Given the description of an element on the screen output the (x, y) to click on. 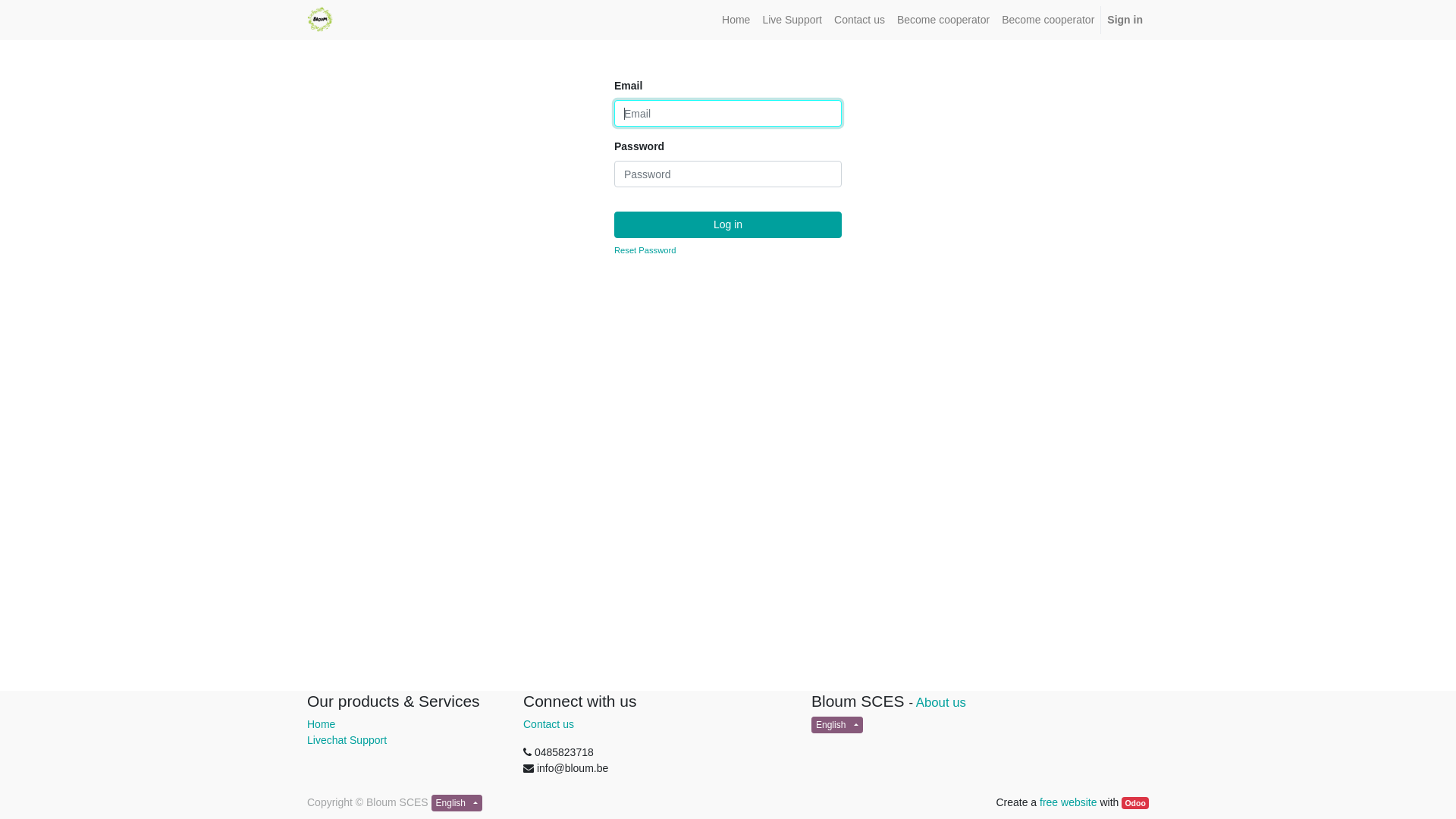
Home Element type: text (735, 20)
Live Support Element type: text (792, 20)
Become cooperator Element type: text (943, 20)
Log in Element type: text (727, 224)
free website Element type: text (1067, 802)
Home Element type: text (321, 724)
English Element type: text (457, 802)
English Element type: text (836, 724)
Livechat Support Element type: text (346, 740)
Contact us Element type: text (859, 20)
Sign in Element type: text (1124, 20)
Bloum SCES Element type: hover (320, 18)
Become cooperator Element type: text (1047, 20)
Odoo Element type: text (1134, 803)
Contact us Element type: text (548, 724)
Reset Password Element type: text (644, 250)
About us Element type: text (941, 702)
